Given the description of an element on the screen output the (x, y) to click on. 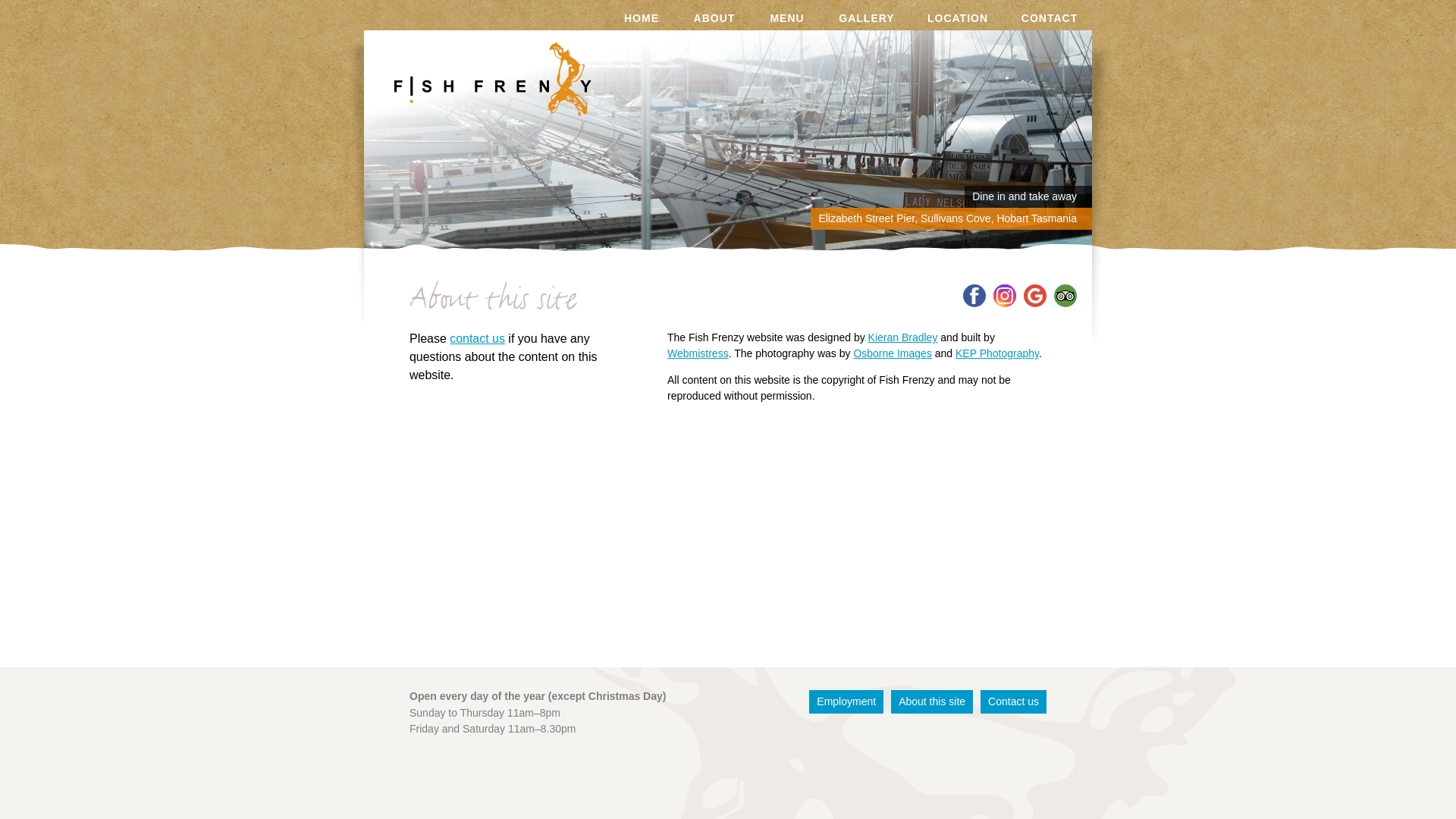
Follow us on Instagram Element type: hover (1004, 295)
Contact us Element type: text (1013, 701)
Osborne Images Element type: text (892, 353)
Review us on Trip Advisor Element type: hover (1065, 295)
contact us Element type: text (477, 338)
Find us on Facebook Element type: hover (974, 295)
Employment Element type: text (846, 701)
Webmistress Element type: text (697, 353)
Kieran Bradley Element type: text (903, 337)
Review us on Google Element type: hover (1034, 295)
About this site Element type: text (931, 701)
KEP Photography Element type: text (996, 353)
